Given the description of an element on the screen output the (x, y) to click on. 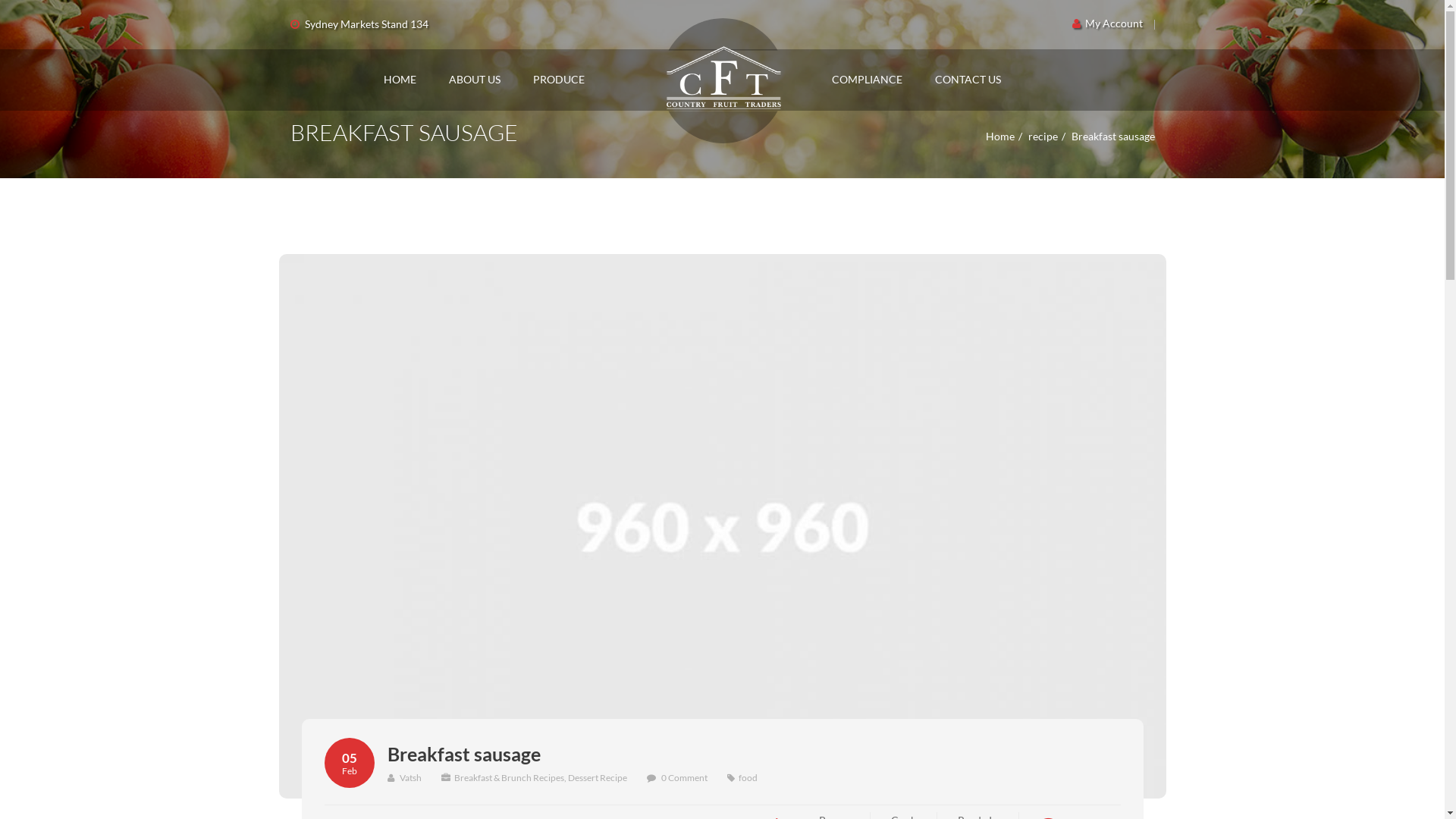
HOME Element type: text (399, 79)
Breakfast & Brunch Recipes Element type: text (508, 777)
ABOUT US Element type: text (474, 79)
Dessert Recipe Element type: text (596, 777)
PRODUCE Element type: text (558, 79)
COMPLIANCE Element type: text (865, 79)
0 Comment Element type: text (684, 777)
My Account Element type: text (1107, 22)
CONTACT US Element type: text (967, 79)
Vatsh Element type: text (403, 777)
recipe Element type: text (1042, 135)
Breakfast sausage Element type: text (462, 753)
food Element type: text (747, 777)
Home Element type: text (999, 135)
